Given the description of an element on the screen output the (x, y) to click on. 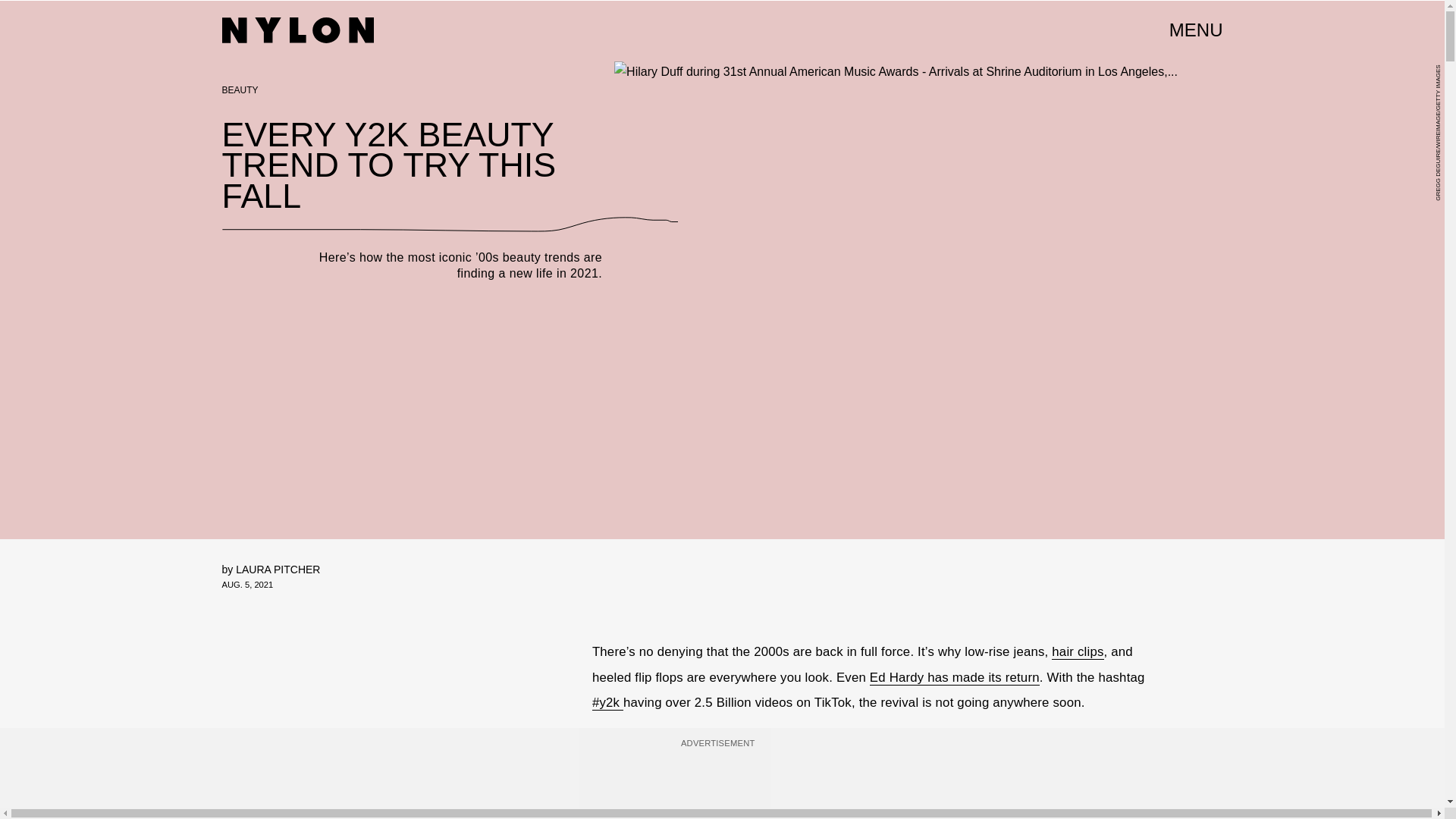
LAURA PITCHER (277, 569)
Ed Hardy has made its return (954, 677)
Nylon (296, 30)
hair clips (1077, 652)
